Given the description of an element on the screen output the (x, y) to click on. 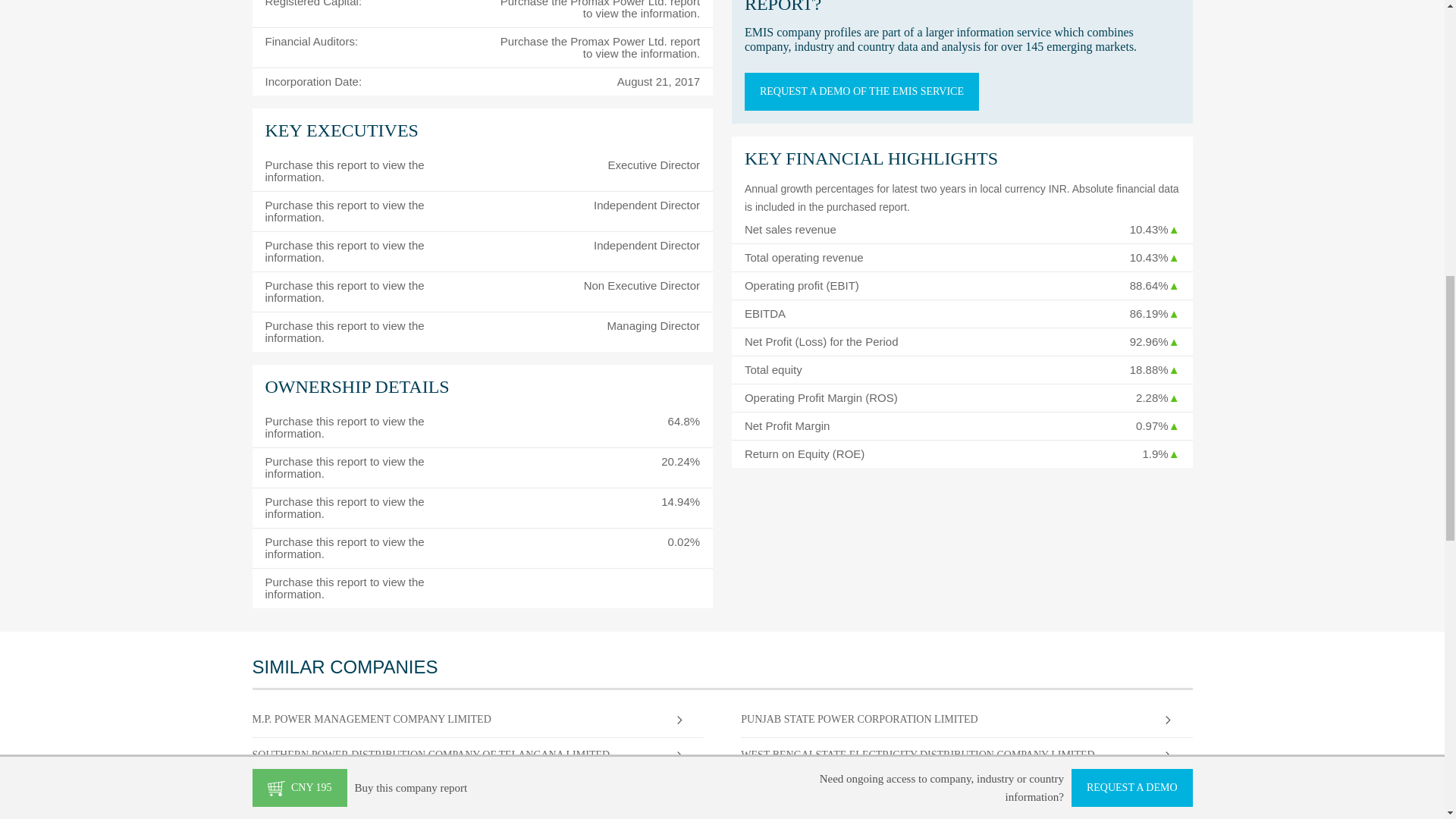
M.P. POWER MANAGEMENT COMPANY LIMITED (453, 719)
REQUEST A DEMO OF THE EMIS SERVICE (861, 91)
PUNJAB STATE POWER CORPORATION LIMITED (942, 719)
